Given the description of an element on the screen output the (x, y) to click on. 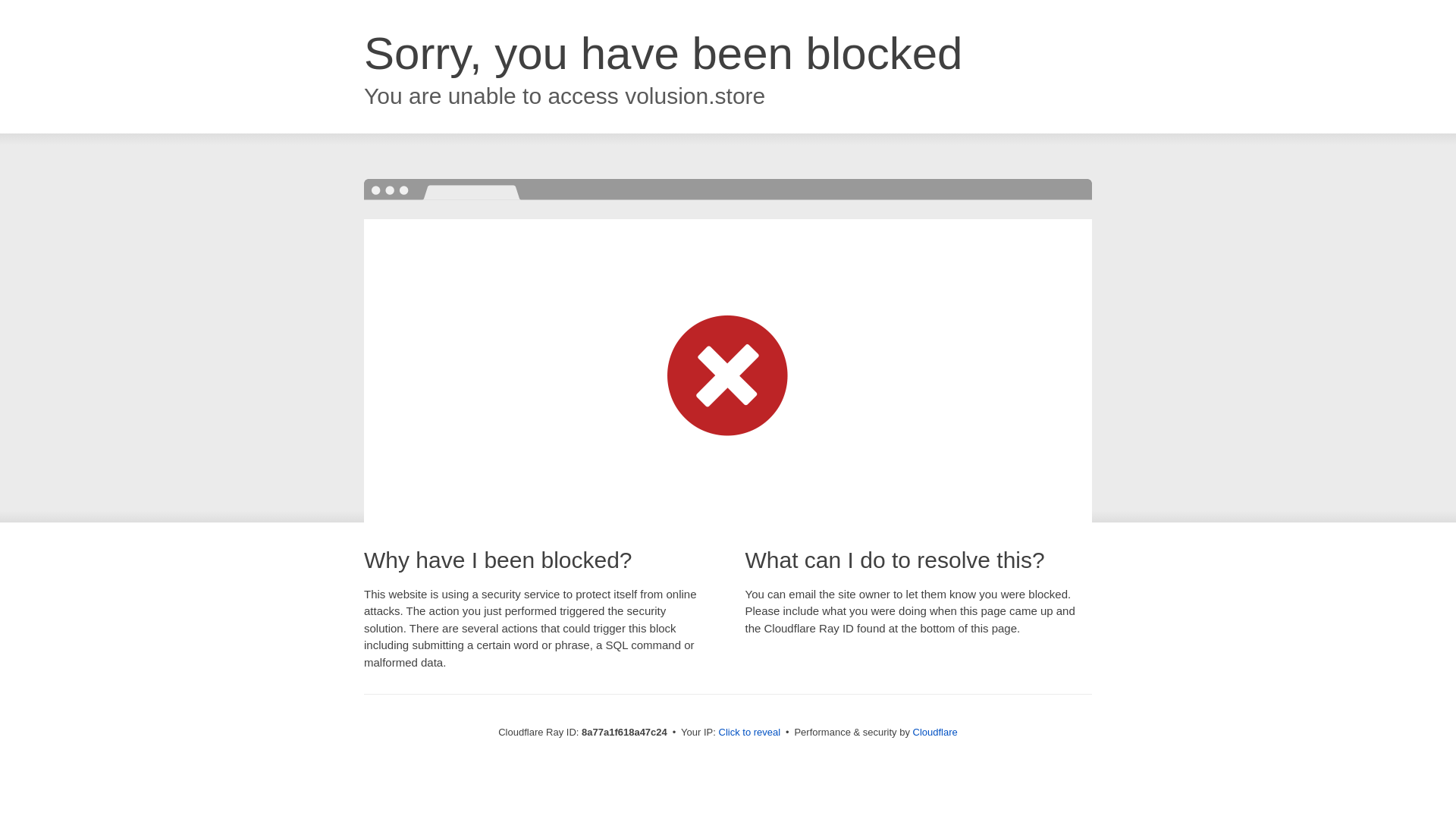
Cloudflare (935, 731)
Click to reveal (749, 732)
